Given the description of an element on the screen output the (x, y) to click on. 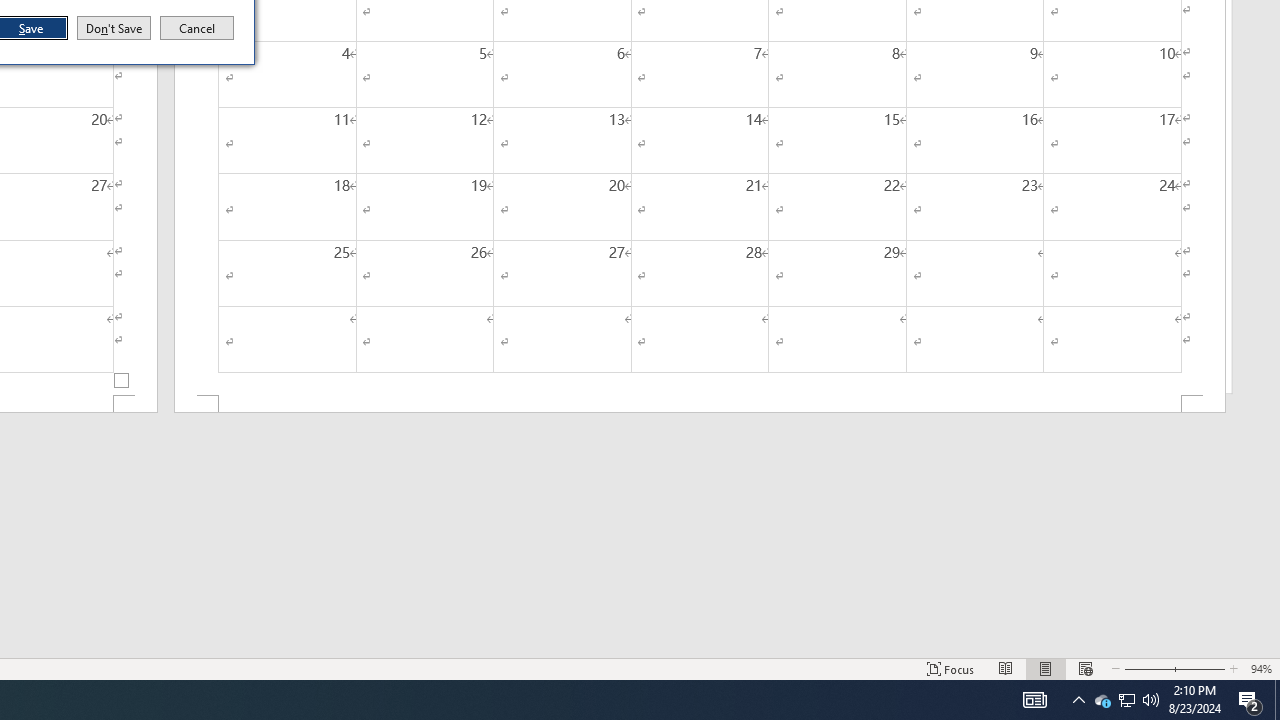
Show desktop (1277, 699)
AutomationID: 4105 (1034, 699)
